Given the description of an element on the screen output the (x, y) to click on. 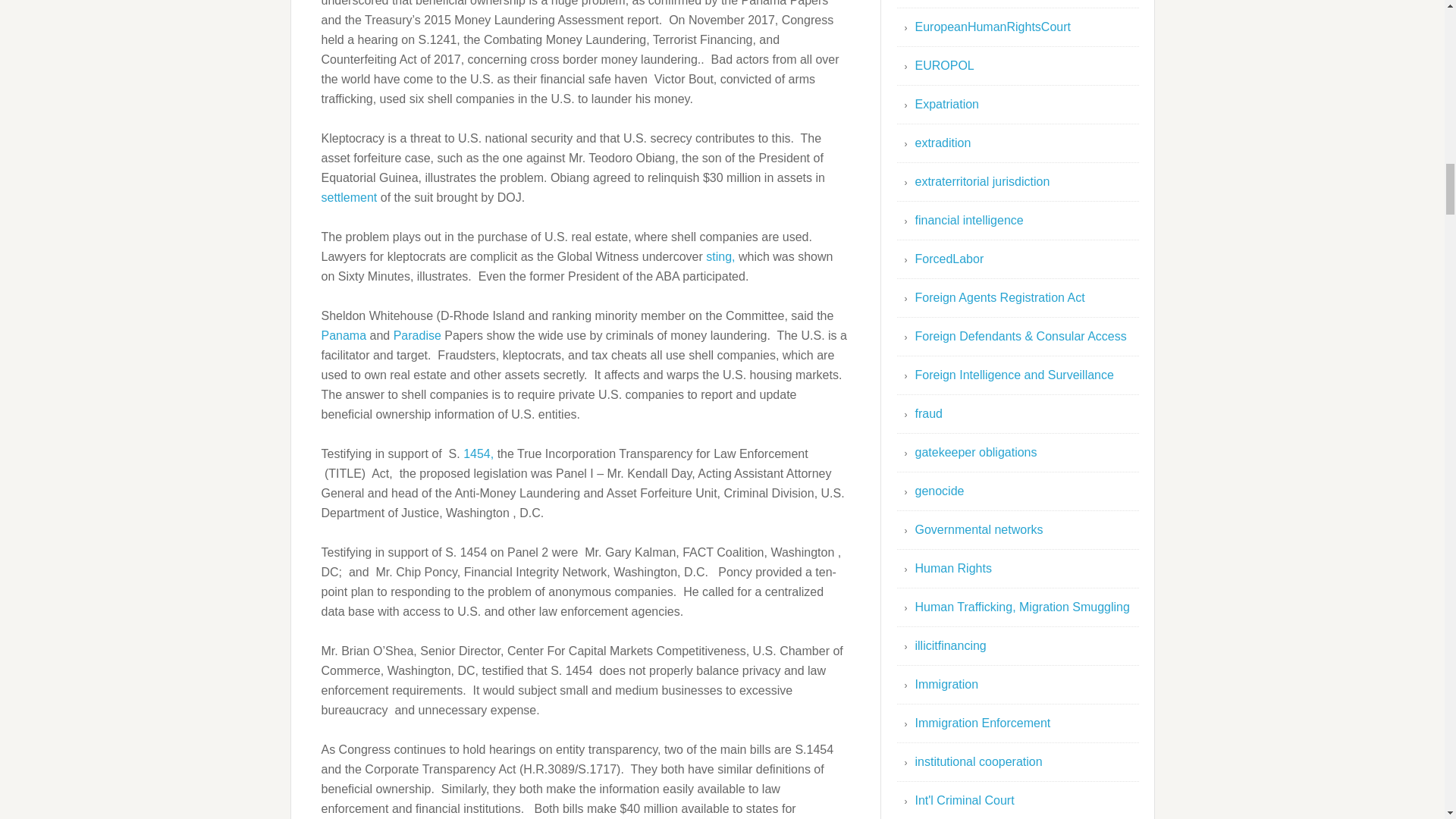
Paradise (417, 335)
1454, (478, 453)
Panama (343, 335)
settlement (349, 196)
sting, (720, 256)
